Given the description of an element on the screen output the (x, y) to click on. 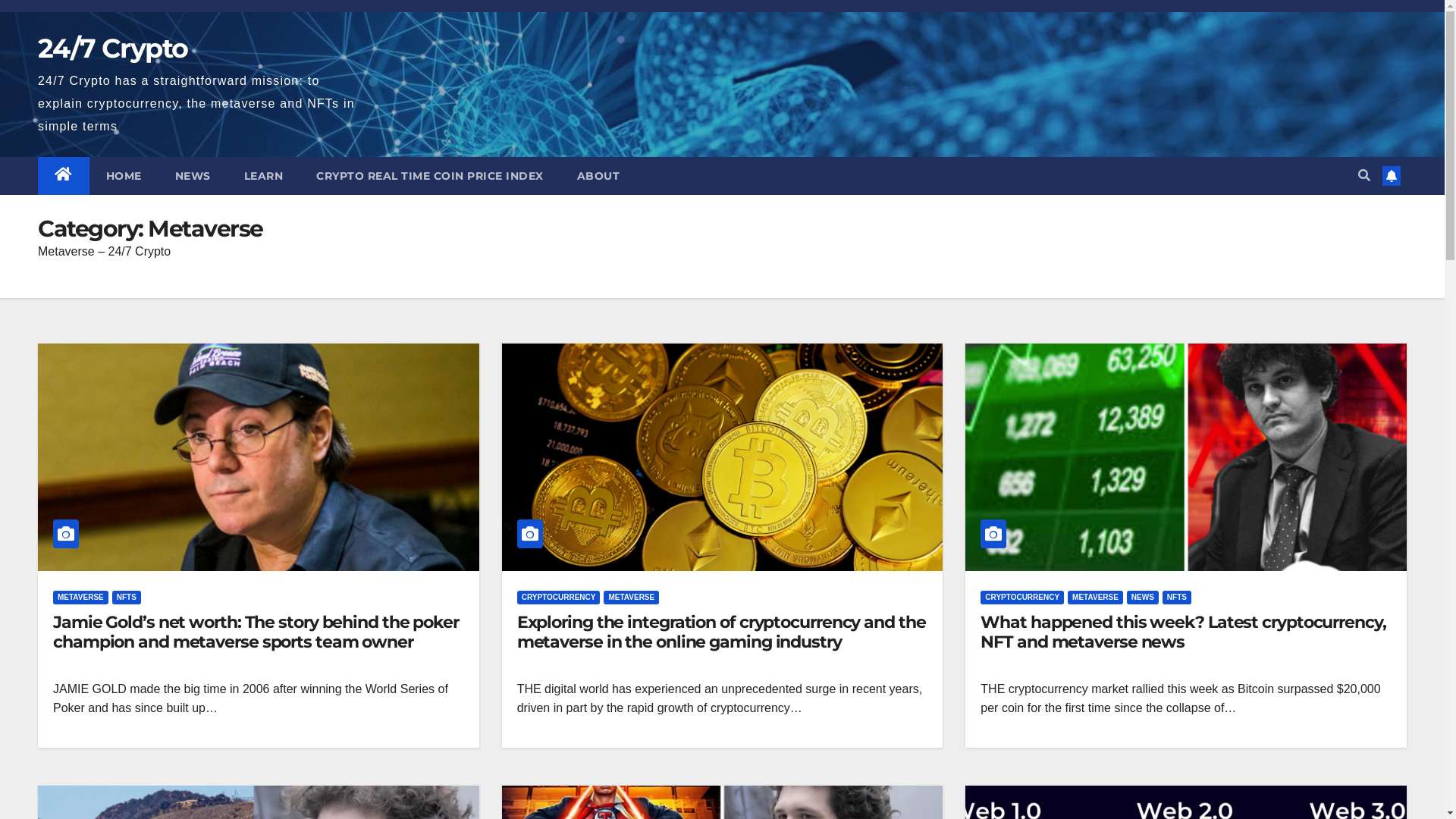
LEARN Element type: text (263, 175)
ABOUT Element type: text (597, 175)
METAVERSE Element type: text (630, 596)
NFTS Element type: text (126, 596)
NEWS Element type: text (1142, 596)
24/7 Crypto Element type: text (112, 47)
CRYPTO REAL TIME COIN PRICE INDEX Element type: text (429, 175)
NEWS Element type: text (191, 175)
CRYPTOCURRENCY Element type: text (1021, 596)
CRYPTOCURRENCY Element type: text (558, 596)
METAVERSE Element type: text (80, 596)
NFTS Element type: text (1176, 596)
METAVERSE Element type: text (1095, 596)
HOME Element type: text (123, 175)
